Given the description of an element on the screen output the (x, y) to click on. 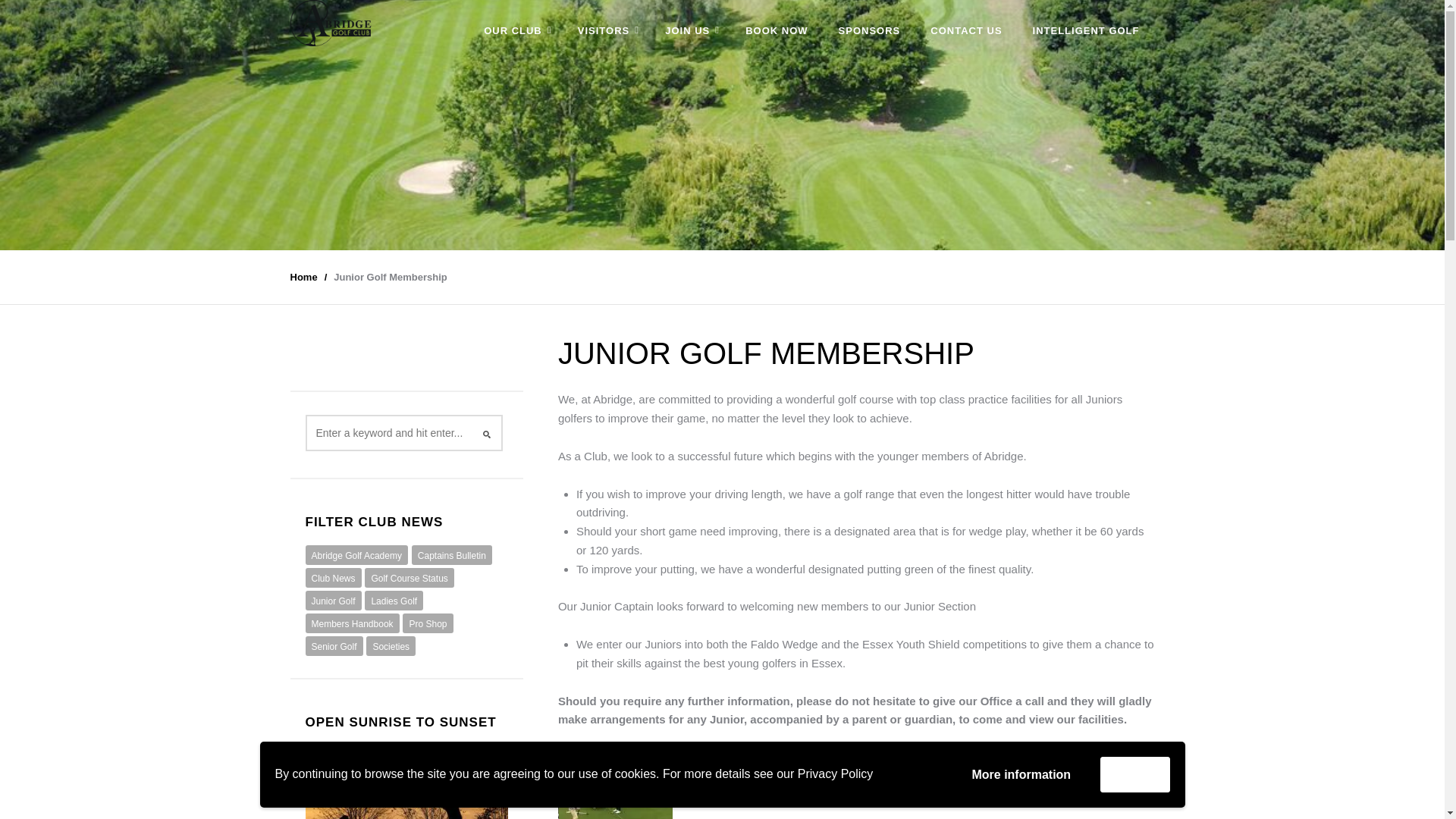
Accept (1134, 774)
VISITORS (605, 30)
SPONSORS (869, 30)
Junior Golf on Saturday mornings at abridge (614, 787)
OUR CLUB (515, 30)
INTELLIGENT GOLF (1085, 30)
JOIN US (689, 30)
More information (1020, 774)
BOOK NOW (776, 30)
Junior golf on saturday mornings (615, 787)
